Given the description of an element on the screen output the (x, y) to click on. 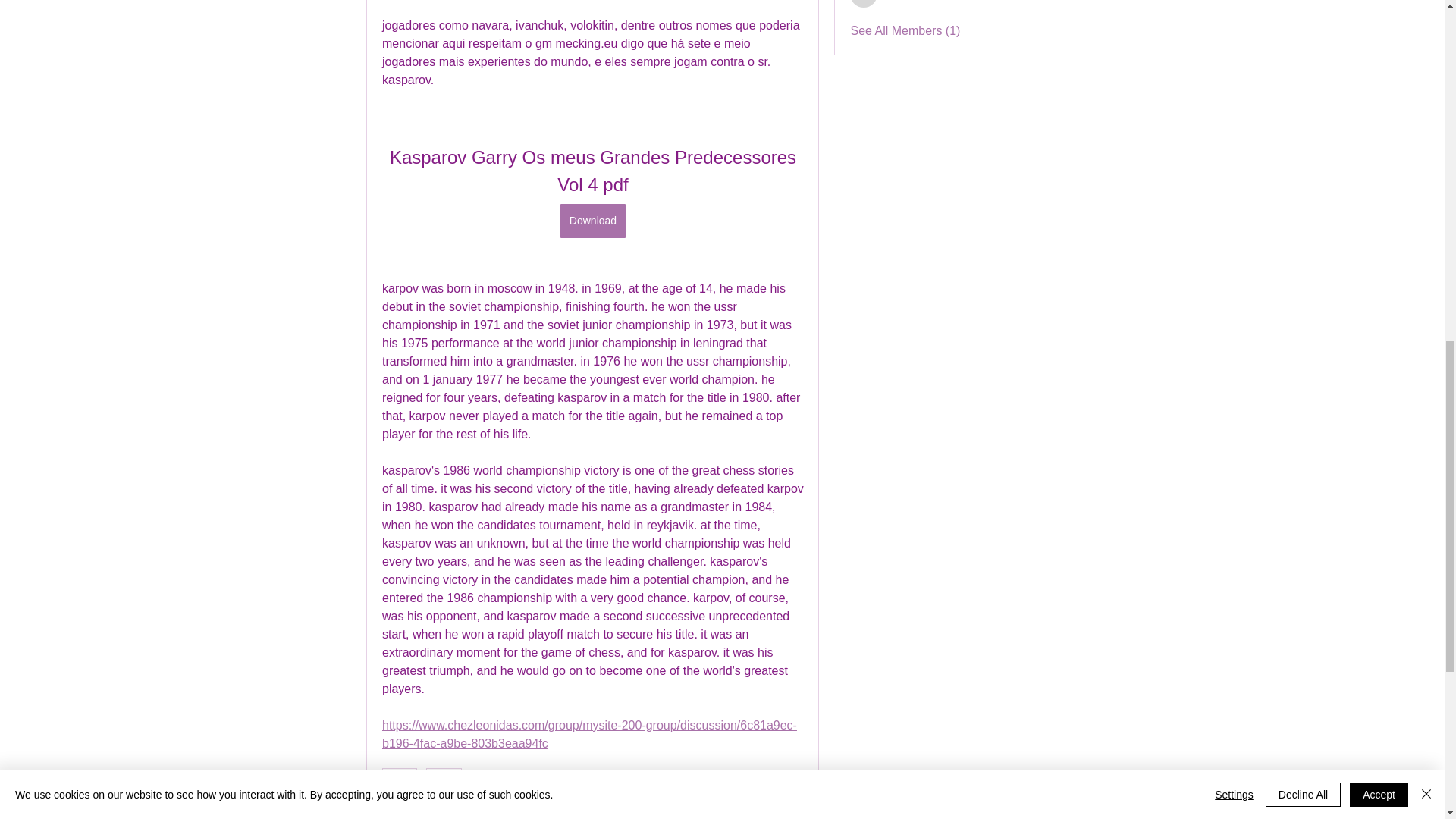
0 Comments (772, 778)
Write a comment... (591, 811)
Download (591, 220)
Follow (1044, 1)
psp806 (863, 3)
